Given the description of an element on the screen output the (x, y) to click on. 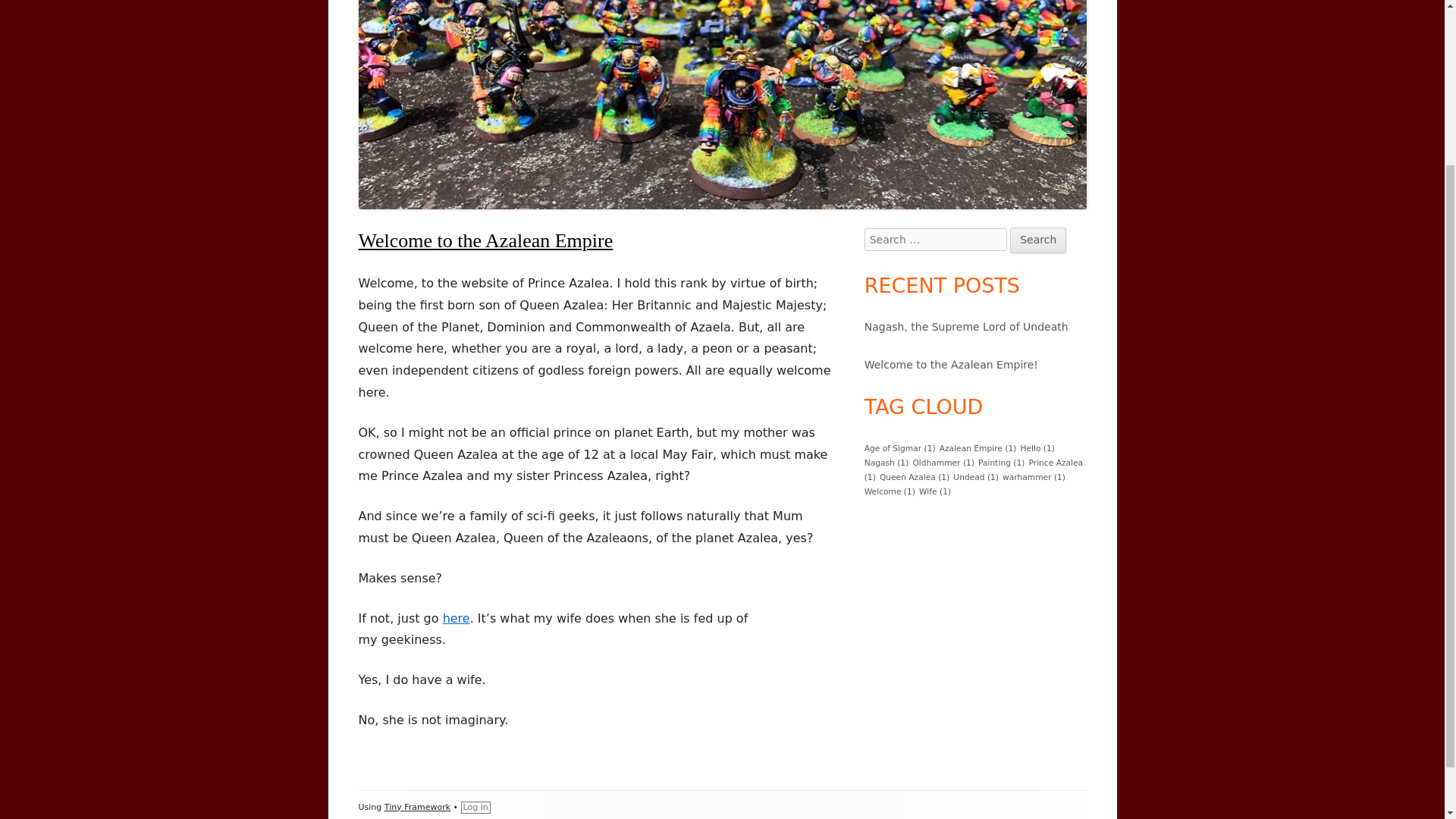
Nagash, the Supreme Lord of Undeath (966, 326)
Search (1037, 240)
Search (1037, 240)
here (456, 617)
Search (1037, 240)
Tiny Framework (416, 807)
Log in (475, 807)
Welcome to the Azalean Empire! (951, 364)
